Given the description of an element on the screen output the (x, y) to click on. 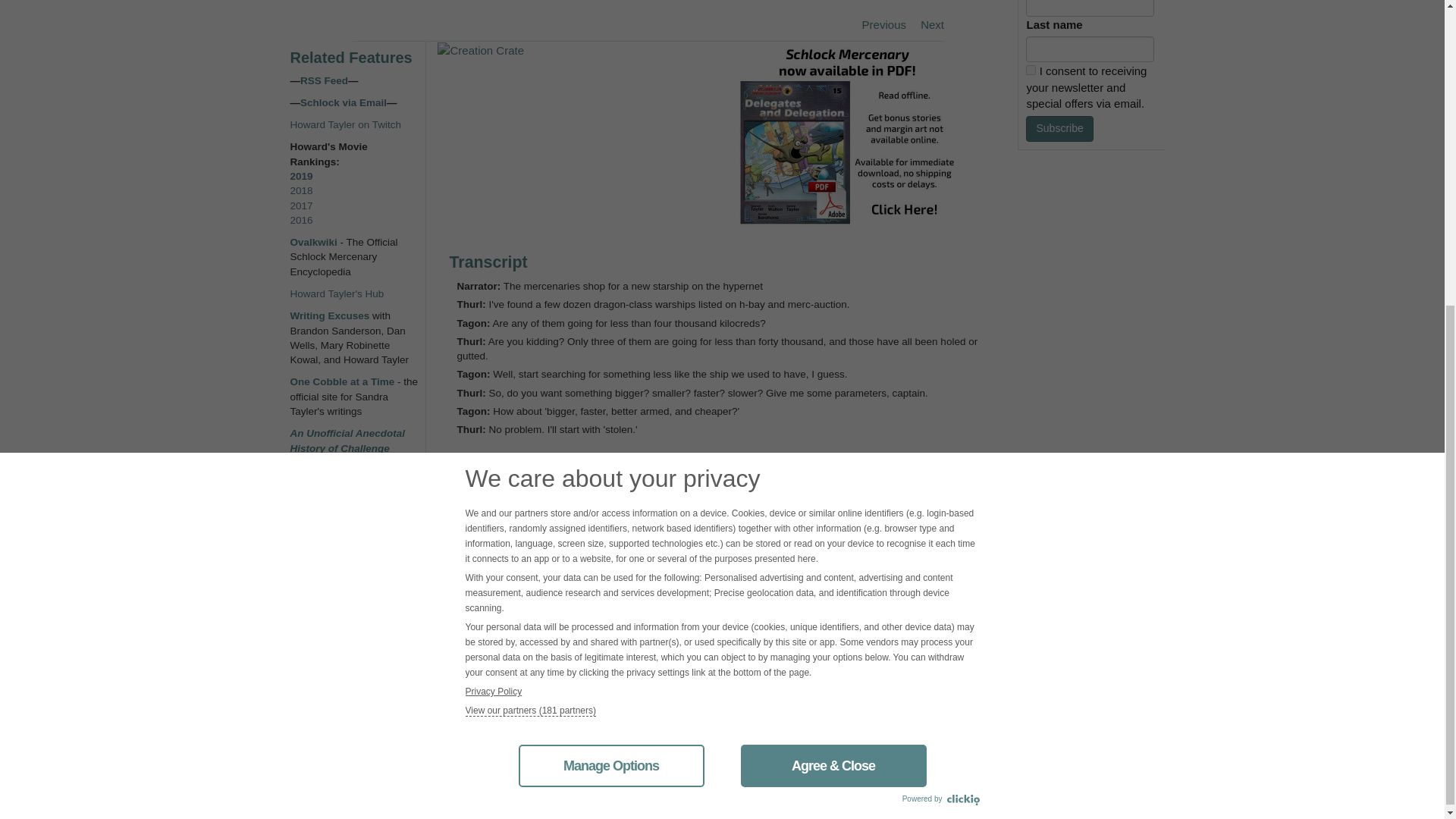
Previous (877, 24)
Clickio (962, 316)
RSS Feed (323, 80)
2017 (301, 205)
on (1030, 70)
Ovalkwiki  (314, 242)
Writing Excuses (329, 315)
2019 (301, 175)
Howard Tayler's Hub (336, 293)
Howard Tayler on Twitch (345, 124)
Privacy settings (325, 558)
Next (925, 24)
2018 (301, 190)
Schlock via Email (343, 102)
Howard's Appearance Schedule (339, 492)
